Given the description of an element on the screen output the (x, y) to click on. 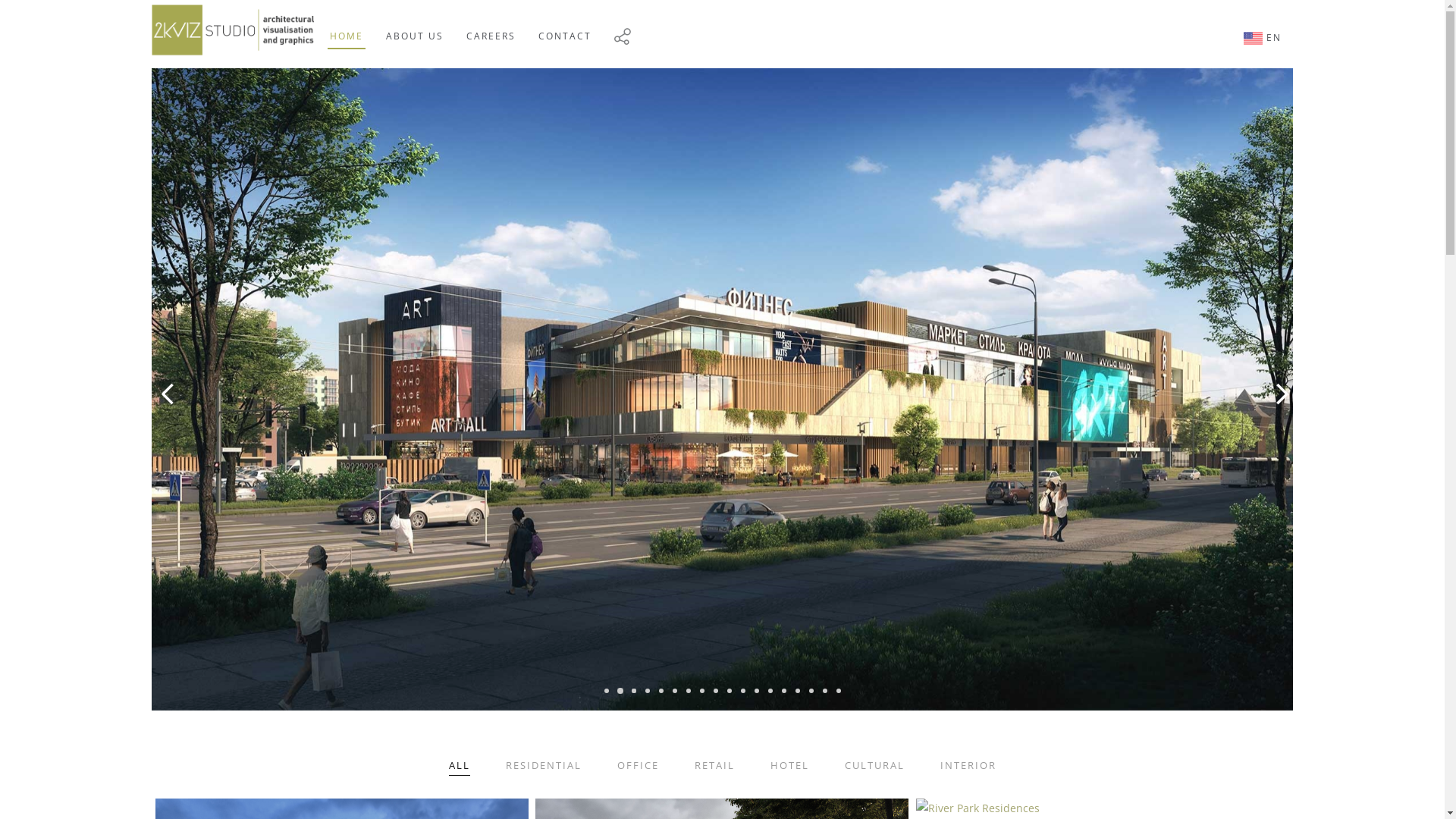
ABOUT US Element type: text (414, 24)
RESIDENTIAL Element type: text (542, 765)
HOTEL Element type: text (789, 765)
ALL Element type: text (459, 765)
CONTACT Element type: text (564, 24)
CAREERS Element type: text (490, 24)
HOME Element type: text (346, 24)
OFFICE Element type: text (637, 765)
EN Element type: text (1262, 26)
INTERIOR Element type: text (968, 765)
RETAIL Element type: text (714, 765)
CULTURAL Element type: text (874, 765)
